Given the description of an element on the screen output the (x, y) to click on. 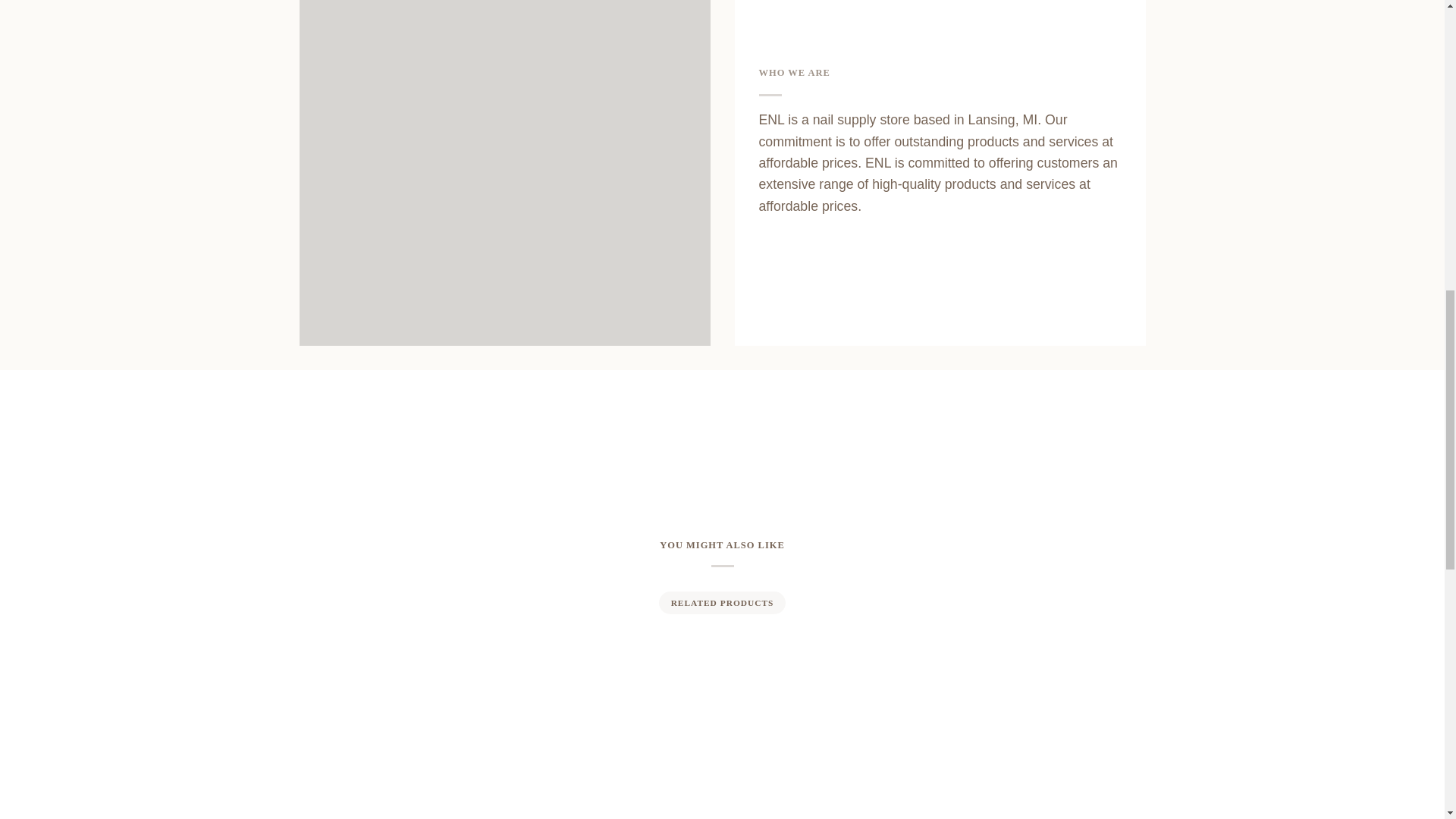
RELATED PRODUCTS (721, 602)
